Given the description of an element on the screen output the (x, y) to click on. 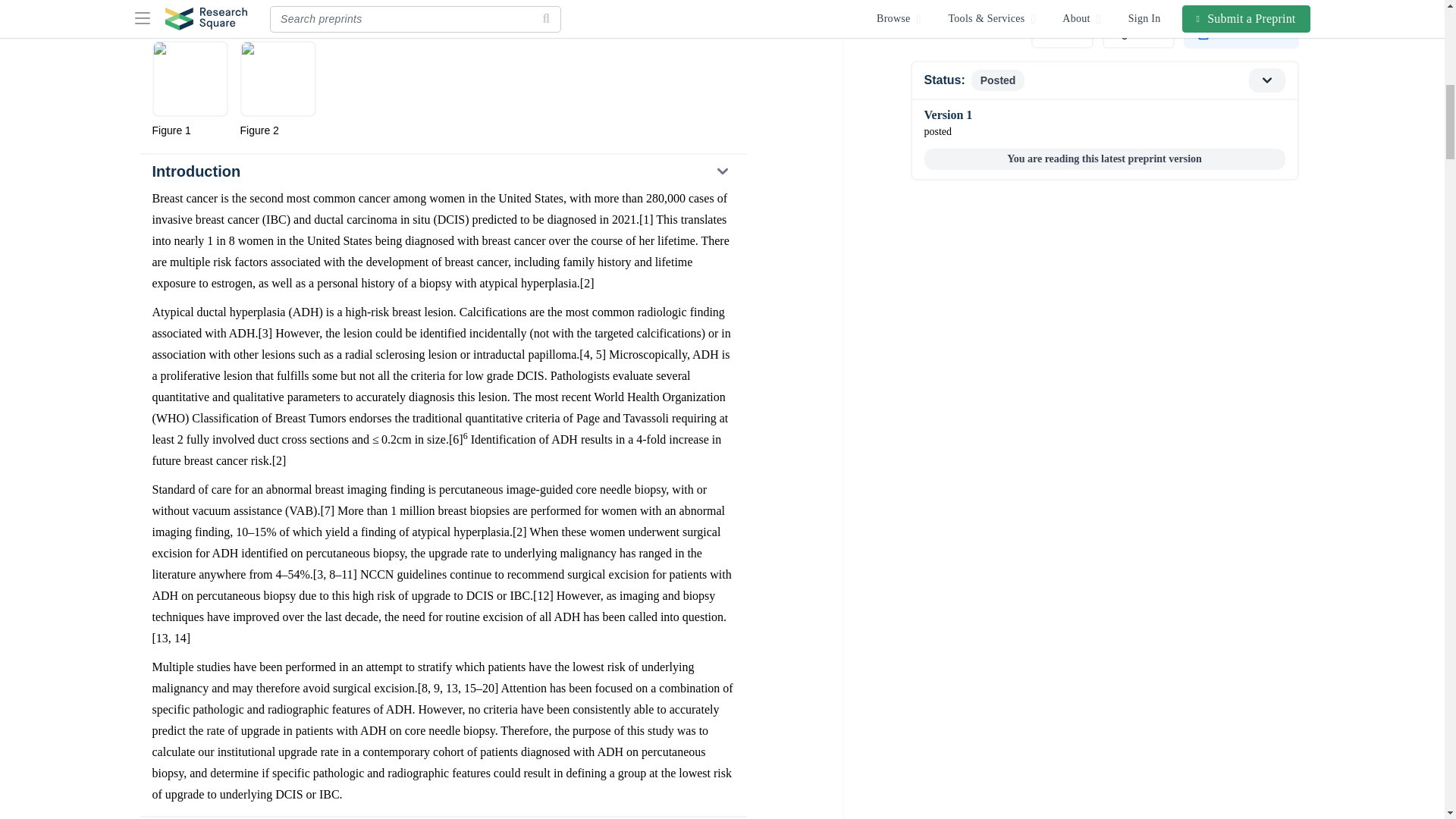
Figures (442, 18)
Introduction (442, 171)
Figure 2 (277, 89)
Figure 1 (189, 89)
